Given the description of an element on the screen output the (x, y) to click on. 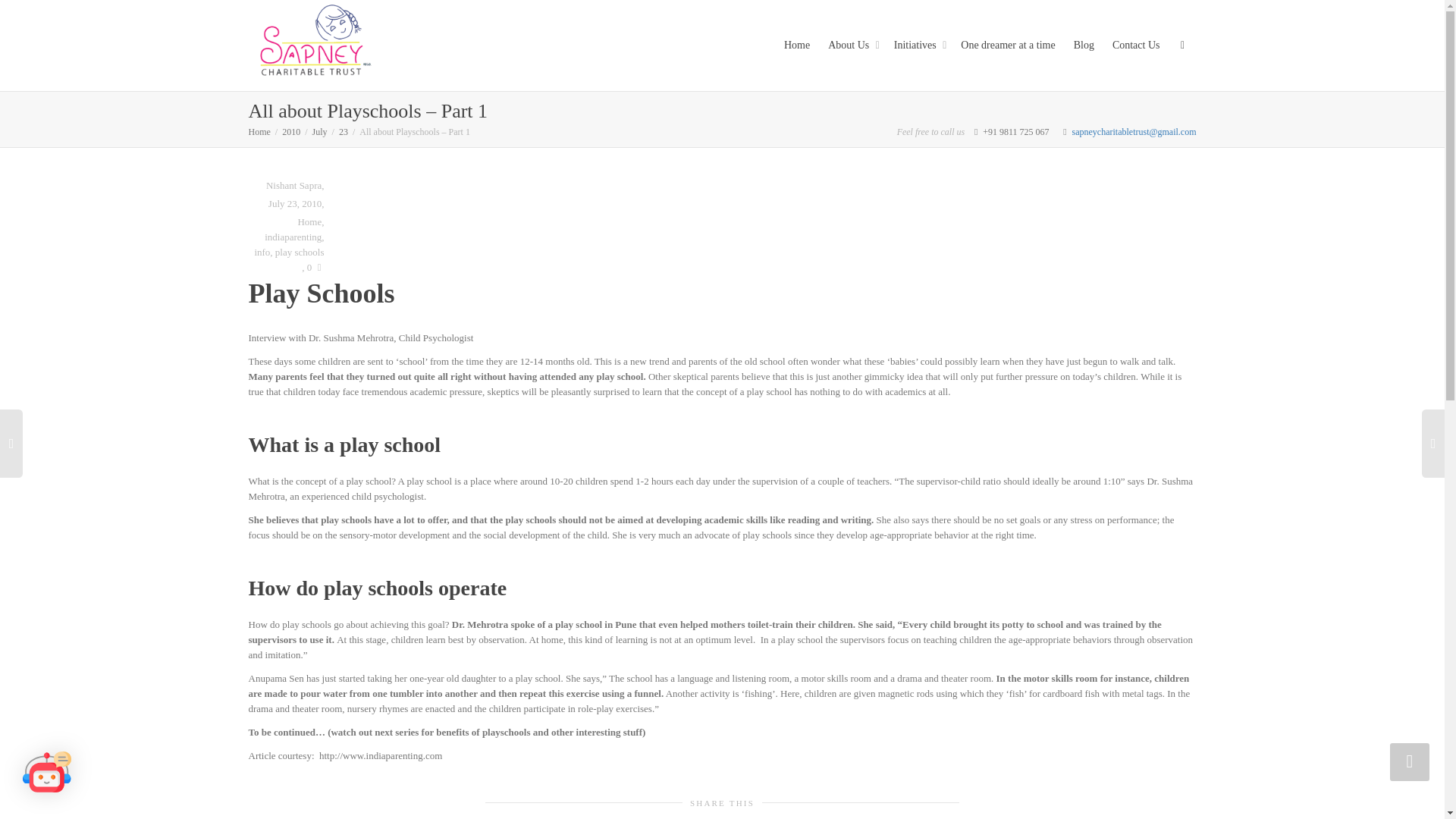
indiaparenting (292, 236)
July (320, 131)
Home (309, 221)
July 23, 2010 (294, 203)
info (261, 251)
2010 (290, 131)
Home (259, 131)
Sapney (314, 45)
0 (315, 266)
One dreamer at a time (1007, 45)
play schools (299, 251)
Nishant Sapra (291, 184)
